Given the description of an element on the screen output the (x, y) to click on. 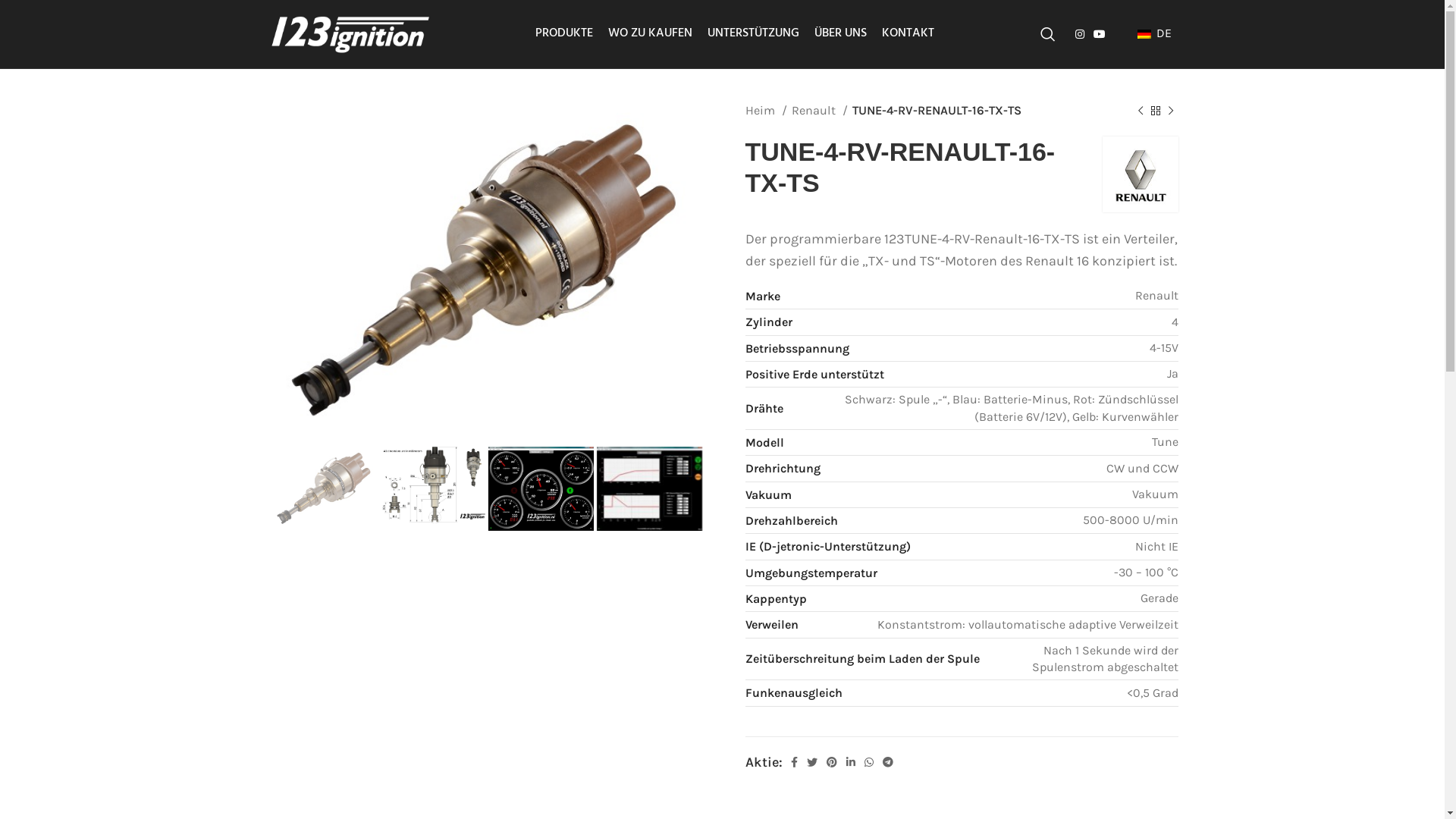
WO ZU KAUFEN Element type: text (650, 33)
Renault Element type: hover (1140, 174)
123Renault16 Element type: hover (486, 271)
Suchen Element type: hover (1047, 33)
German Element type: hover (1144, 33)
KONTAKT Element type: text (907, 33)
Heim Element type: text (765, 110)
PRODUKTE Element type: text (564, 33)
DE Element type: text (1145, 33)
Renault Element type: text (819, 110)
